Given the description of an element on the screen output the (x, y) to click on. 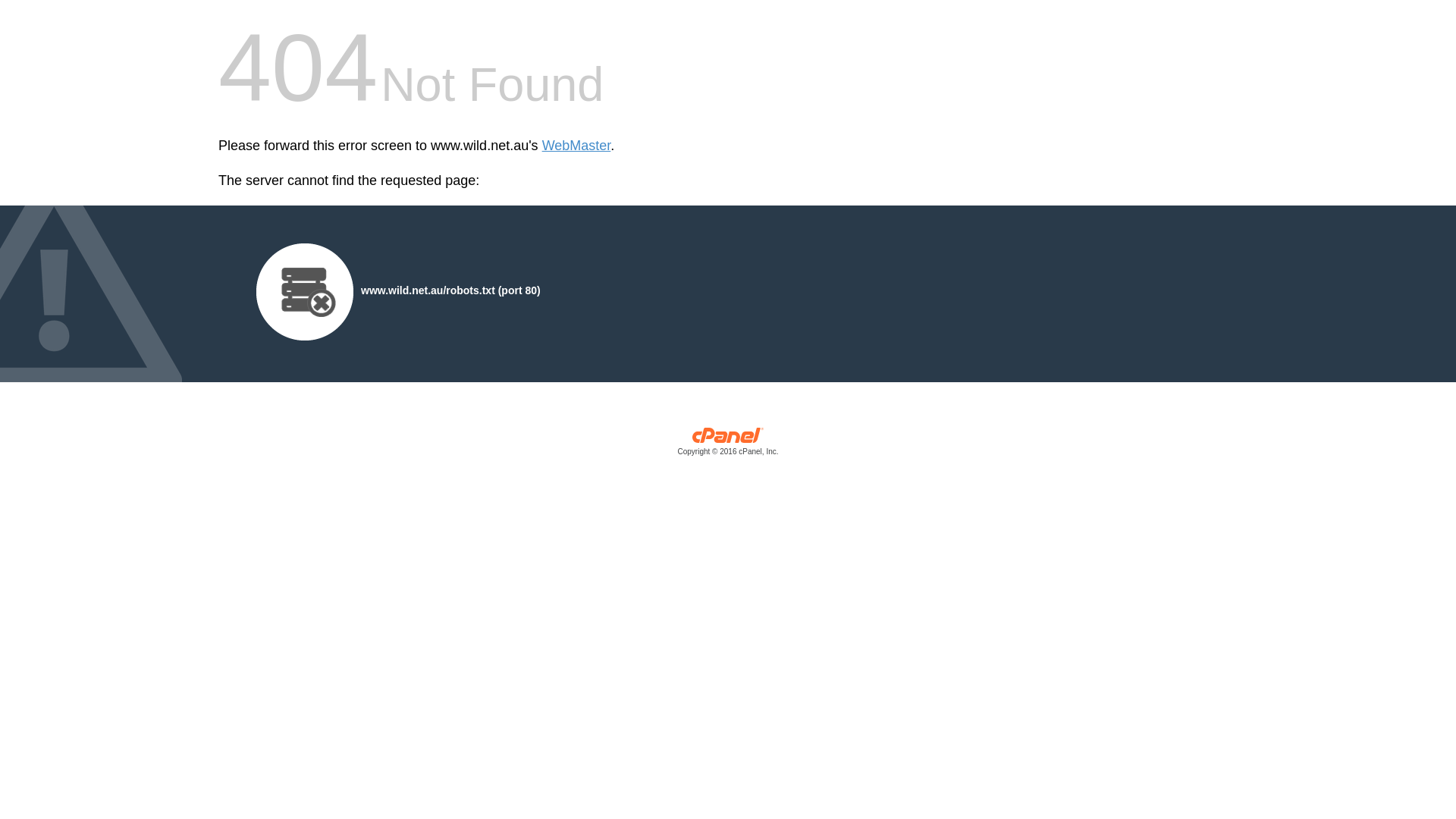
WebMaster Element type: text (576, 145)
